Given the description of an element on the screen output the (x, y) to click on. 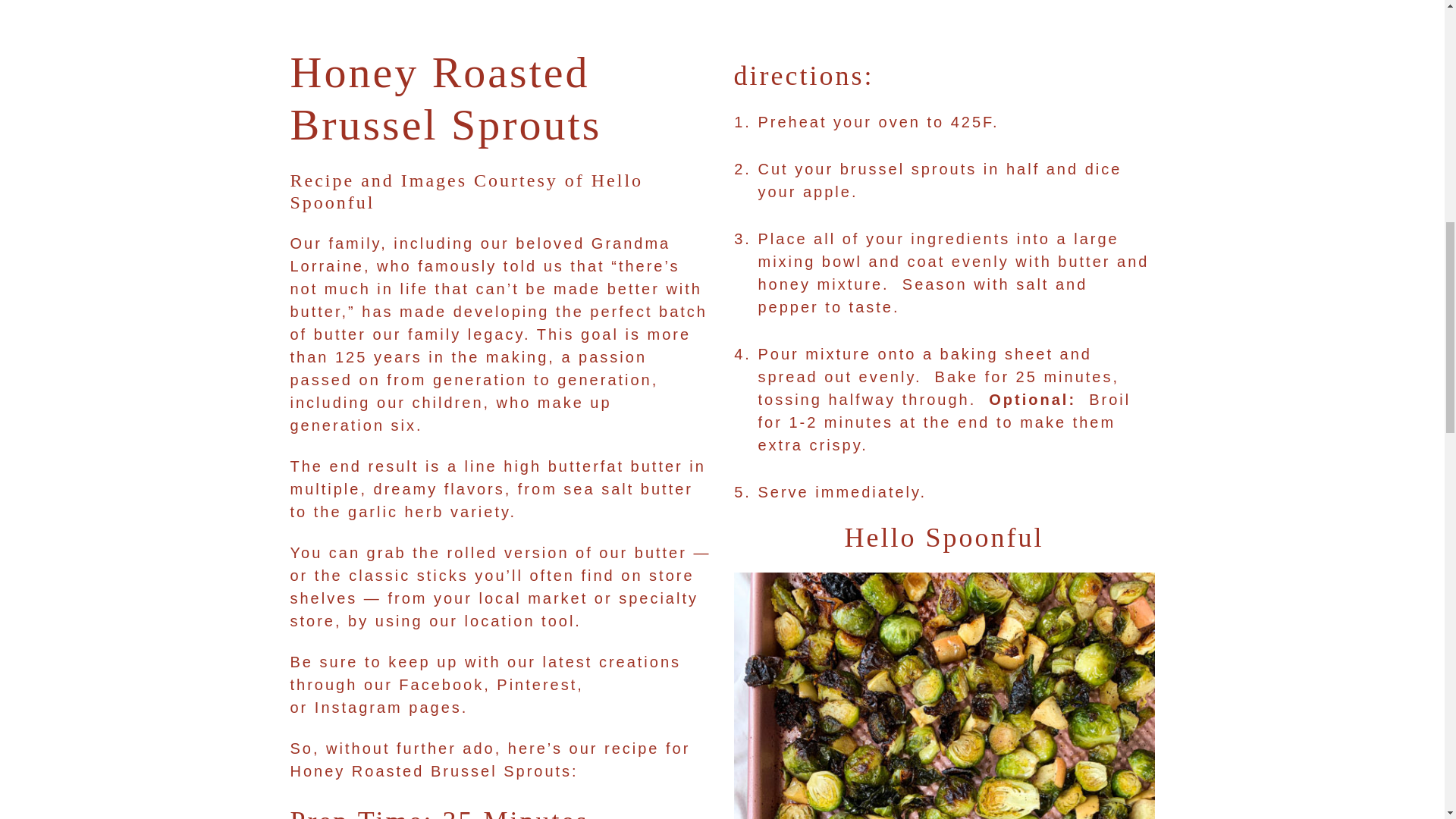
Hello Spoonful (943, 537)
Instagram (358, 707)
Facebook (440, 684)
location tool (519, 620)
Pinterest (536, 684)
